Given the description of an element on the screen output the (x, y) to click on. 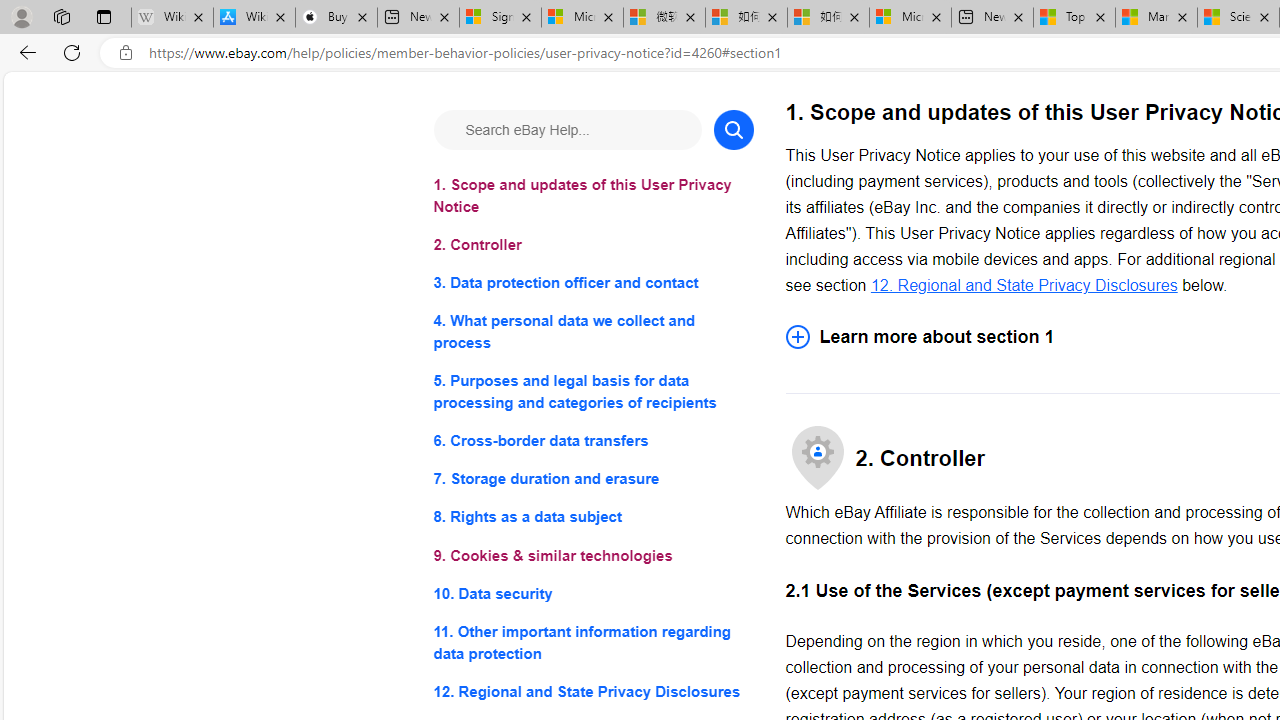
4. What personal data we collect and process (592, 332)
12. Regional and State Privacy Disclosures (592, 690)
3. Data protection officer and contact (592, 283)
4. What personal data we collect and process (592, 332)
10. Data security (592, 592)
Search eBay Help... (566, 129)
8. Rights as a data subject (592, 517)
2. Controller (592, 245)
9. Cookies & similar technologies (592, 555)
